Given the description of an element on the screen output the (x, y) to click on. 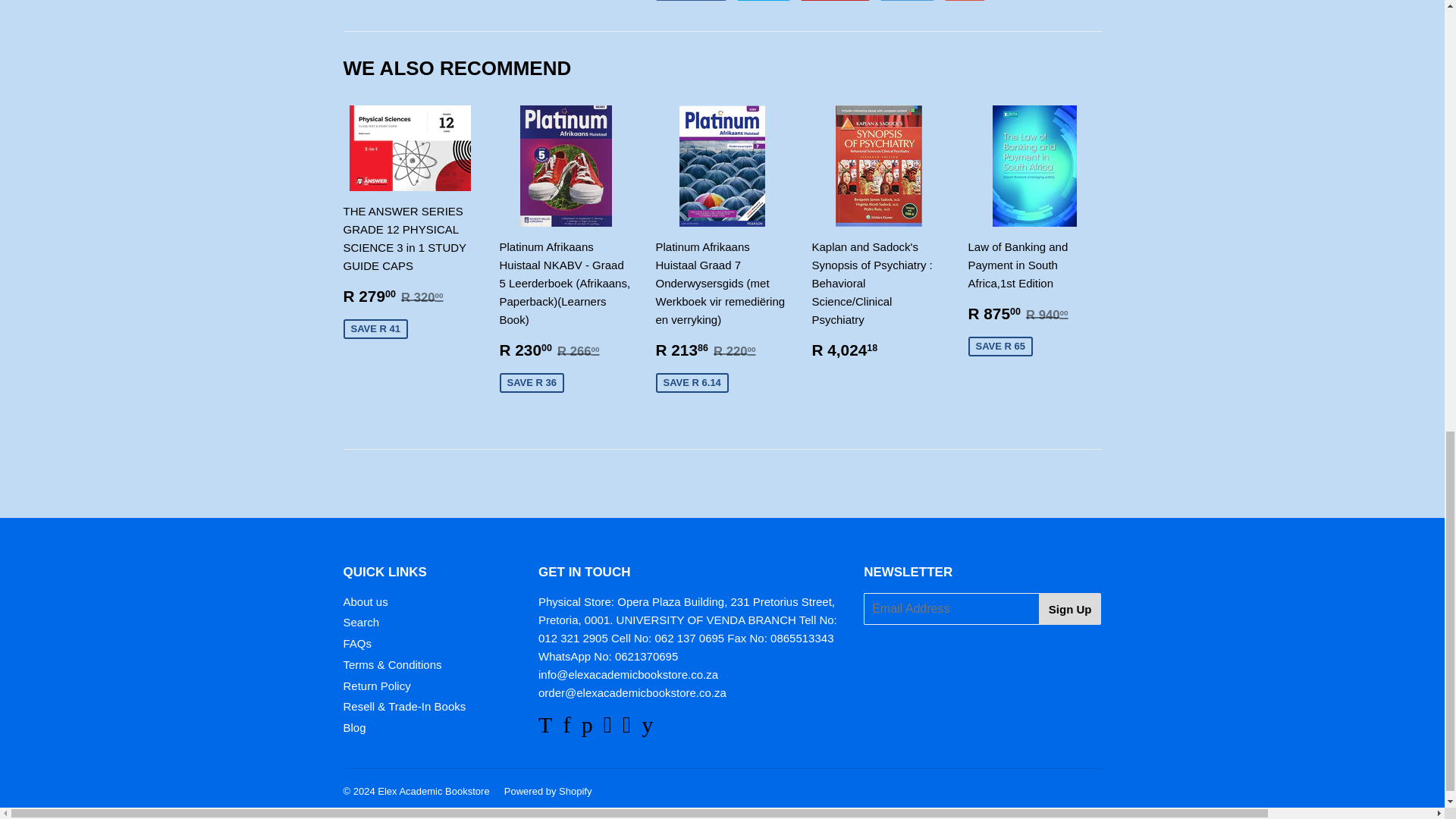
Elex Academic Bookstore on Twitter (544, 727)
Sign Up (1070, 608)
